Given the description of an element on the screen output the (x, y) to click on. 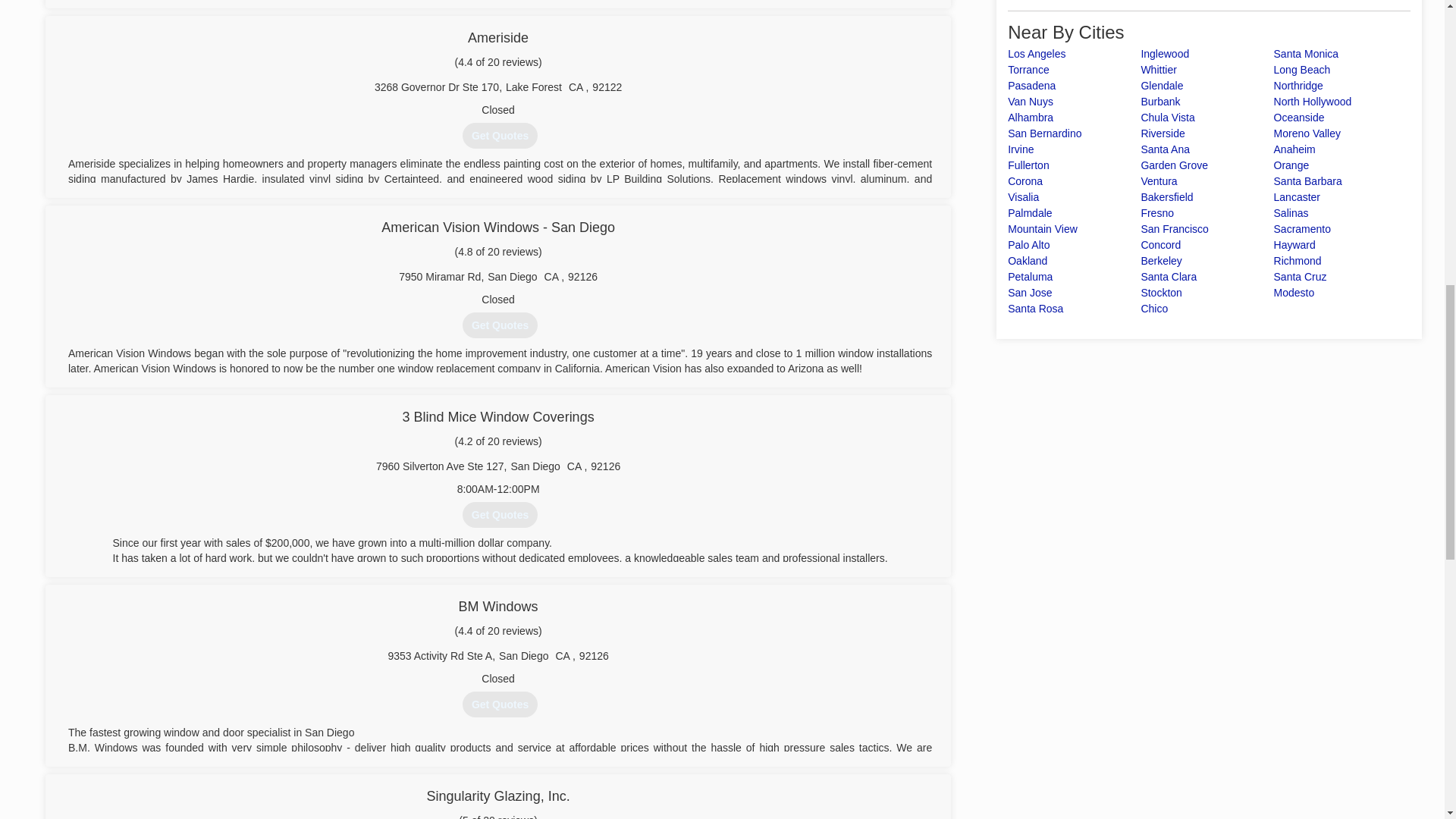
North Hollywood (1313, 101)
Get Quotes (500, 135)
Alhambra (1029, 117)
Get Quotes (500, 704)
Torrance (1027, 69)
Pasadena (1031, 85)
Santa Monica (1306, 53)
Van Nuys (1029, 101)
Inglewood (1164, 53)
Burbank (1159, 101)
